Given the description of an element on the screen output the (x, y) to click on. 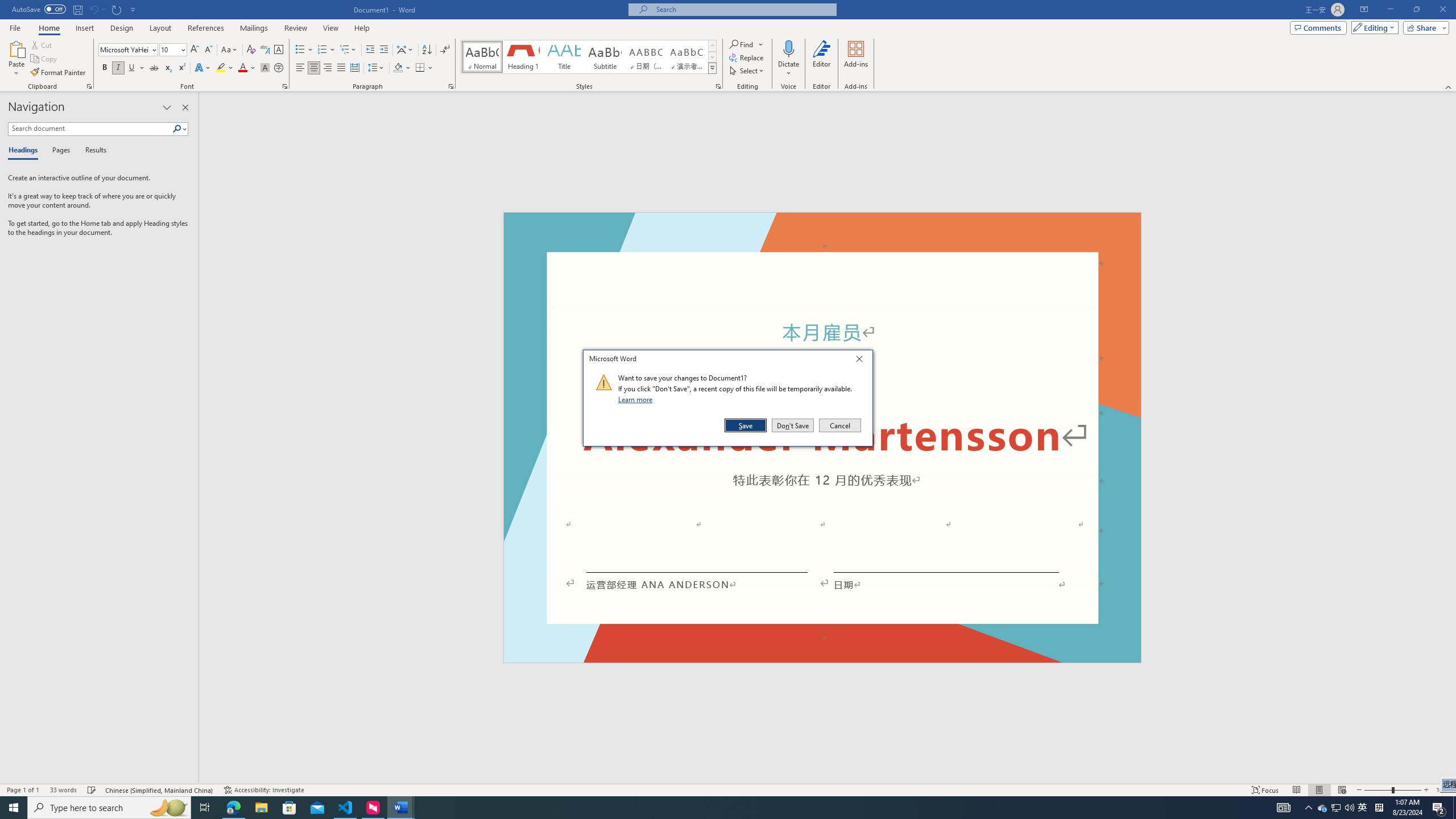
Start (13, 807)
Subtitle (605, 56)
Language Chinese (Simplified, Mainland China) (159, 790)
Type here to search (108, 807)
Task View (204, 807)
Repeat Subscript (117, 9)
